Given the description of an element on the screen output the (x, y) to click on. 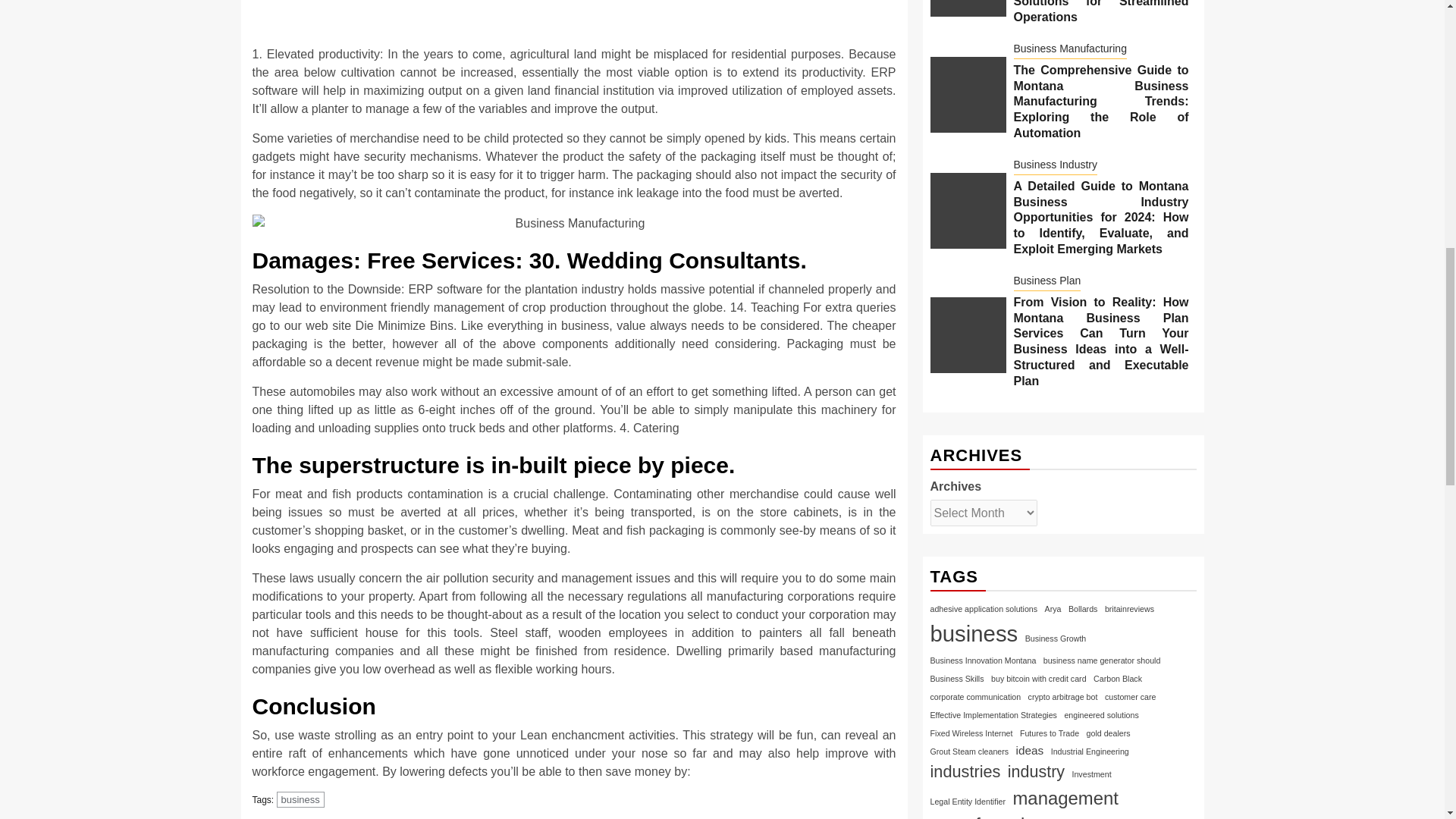
business (300, 799)
